Given the description of an element on the screen output the (x, y) to click on. 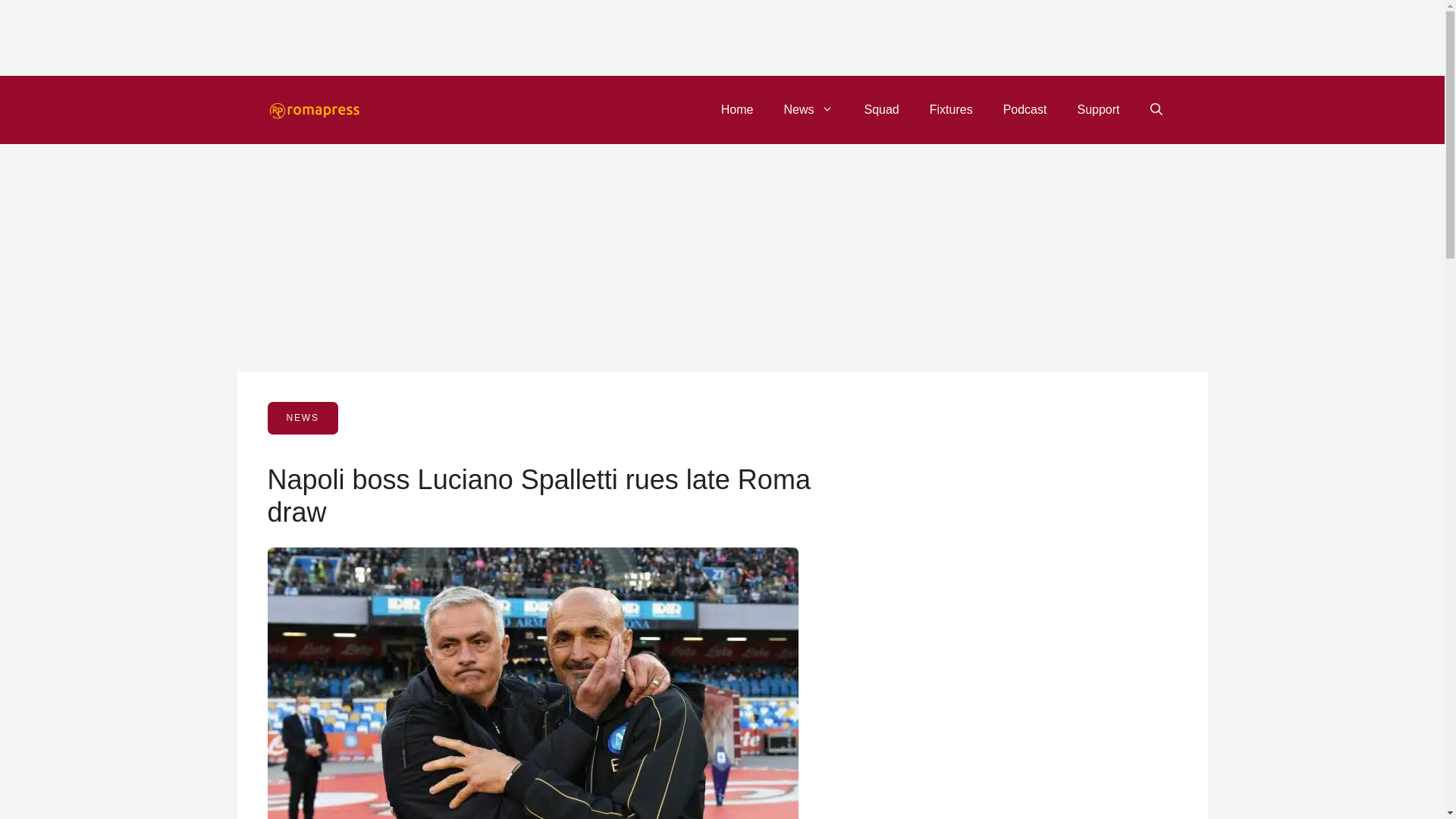
Squad (881, 109)
Home (737, 109)
Support (1097, 109)
News (808, 109)
Podcast (1025, 109)
Fixtures (951, 109)
